Given the description of an element on the screen output the (x, y) to click on. 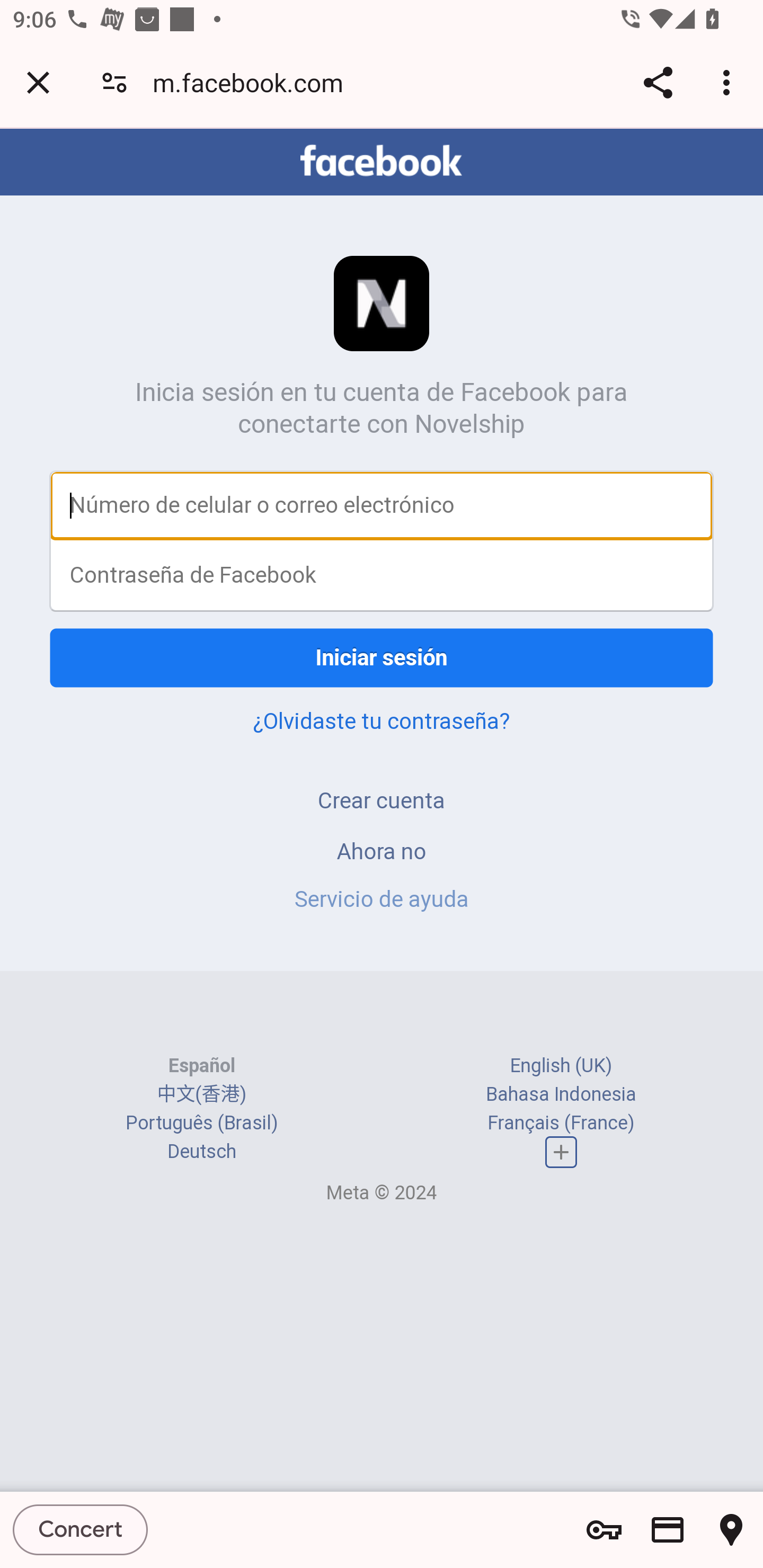
Close tab (38, 82)
Share (657, 82)
Customize and control Google Chrome (729, 82)
Connection is secure (114, 81)
m.facebook.com (254, 81)
facebook (381, 160)
Iniciar sesión (381, 657)
¿Olvidaste tu contraseña? (381, 720)
Crear cuenta (381, 800)
Ahora no (381, 850)
Servicio de ayuda (381, 898)
English (UK) (560, 1065)
中文(香港) (201, 1093)
Bahasa Indonesia (560, 1093)
Português (Brasil) (201, 1122)
Français (France) (560, 1122)
Lista completa de idiomas (560, 1152)
Deutsch (201, 1151)
Concert (80, 1529)
Show saved passwords and password options (603, 1530)
Show saved payment methods (667, 1530)
Show saved addresses (731, 1530)
